Given the description of an element on the screen output the (x, y) to click on. 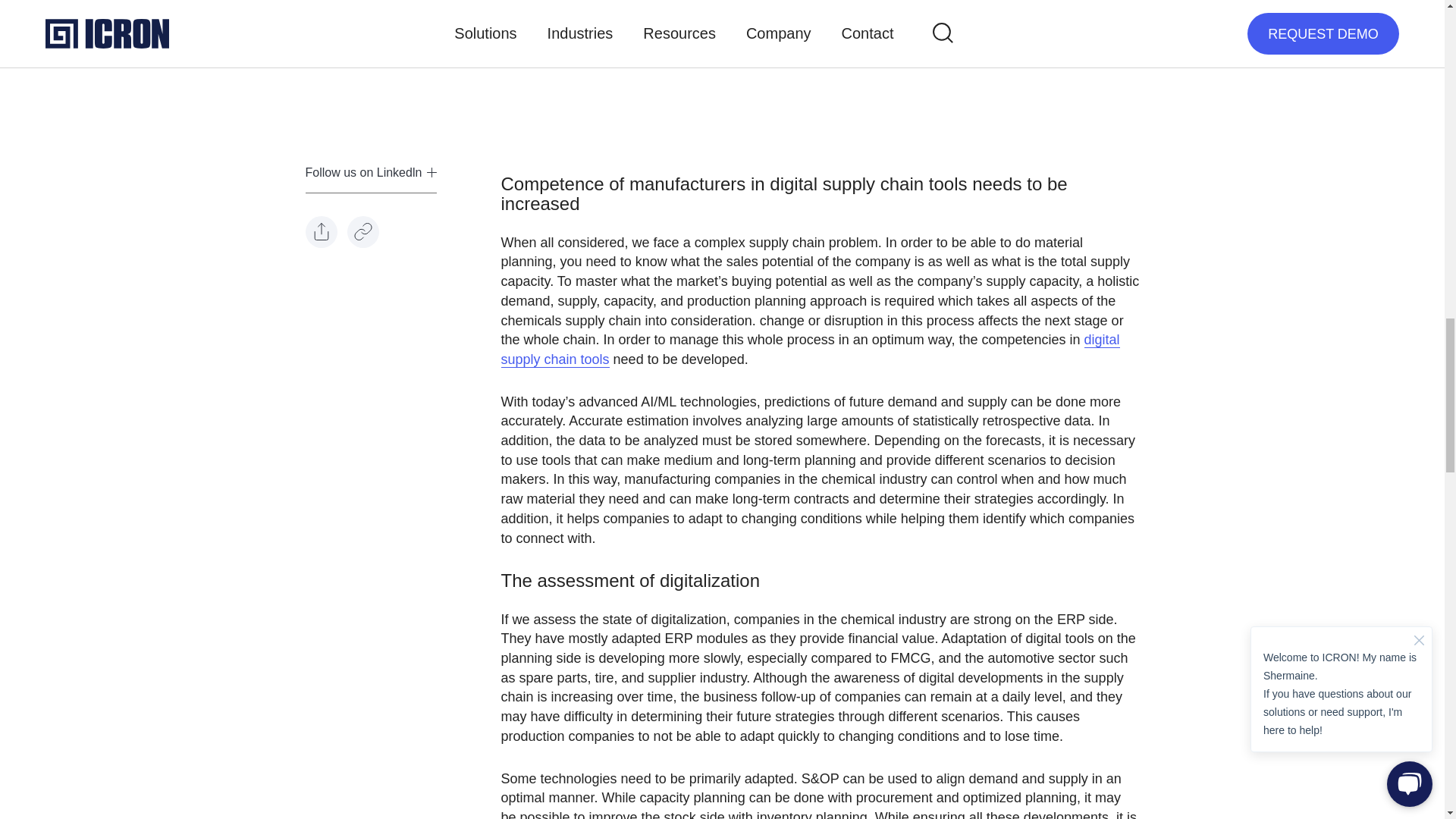
Chemical Industry Manufacturing Cycle (708, 33)
